Given the description of an element on the screen output the (x, y) to click on. 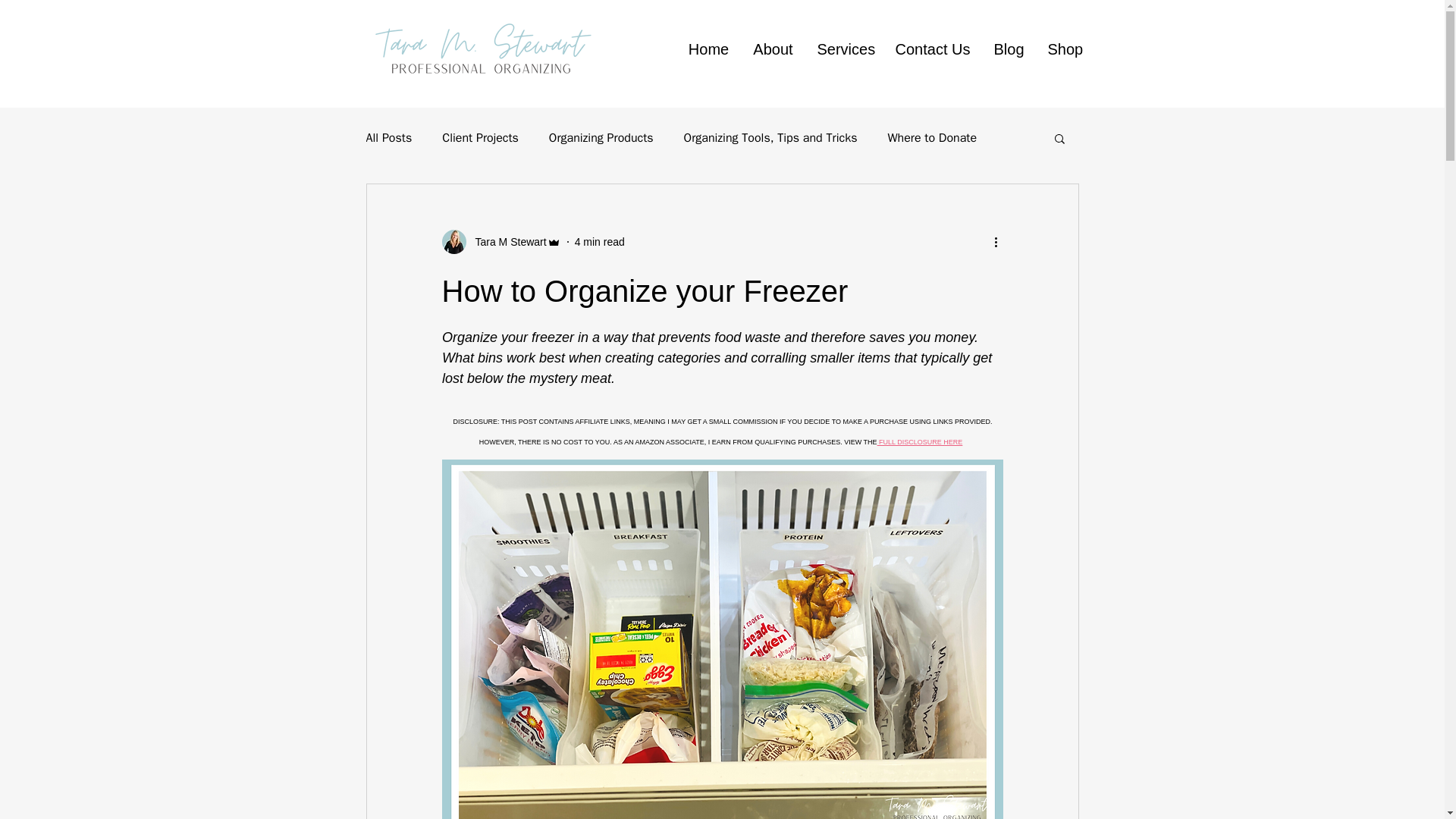
About (772, 49)
 FULL DISCLOSURE HERE (919, 439)
4 min read (599, 241)
Client Projects (480, 138)
Organizing Products (600, 138)
Home (708, 49)
Services (844, 49)
Blog (1008, 49)
Shop (1064, 49)
All Posts (388, 138)
Where to Donate (931, 138)
Contact Us (932, 49)
Tara M Stewart (505, 241)
Organizing Tools, Tips and Tricks (770, 138)
